Given the description of an element on the screen output the (x, y) to click on. 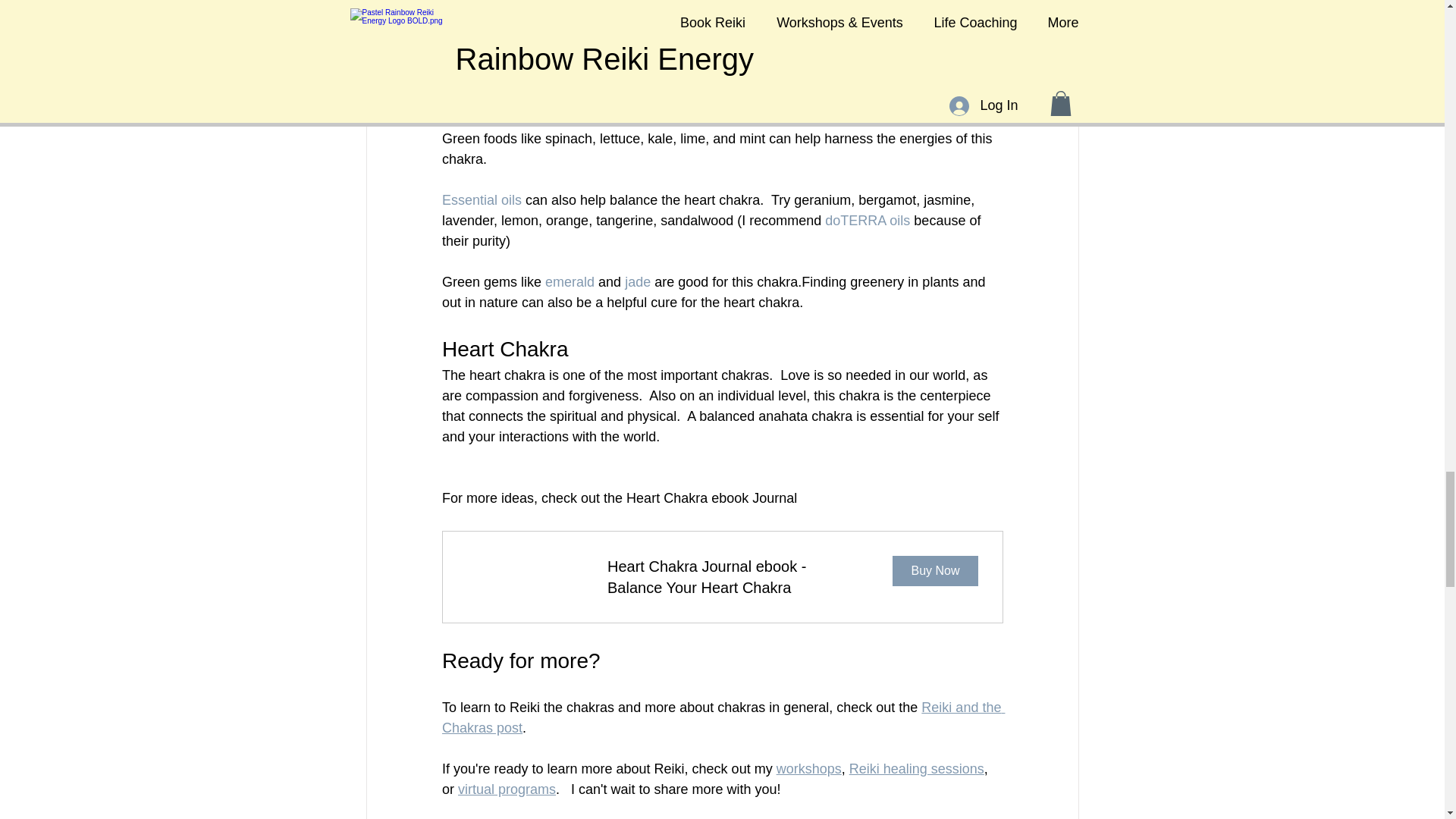
doTERRA oils (867, 220)
virtual programs (507, 789)
workshops (808, 768)
Reiki healing sessions (916, 768)
Reiki and the Chakras post (722, 717)
emerald (569, 281)
Essential oils (481, 200)
jade (637, 281)
